Given the description of an element on the screen output the (x, y) to click on. 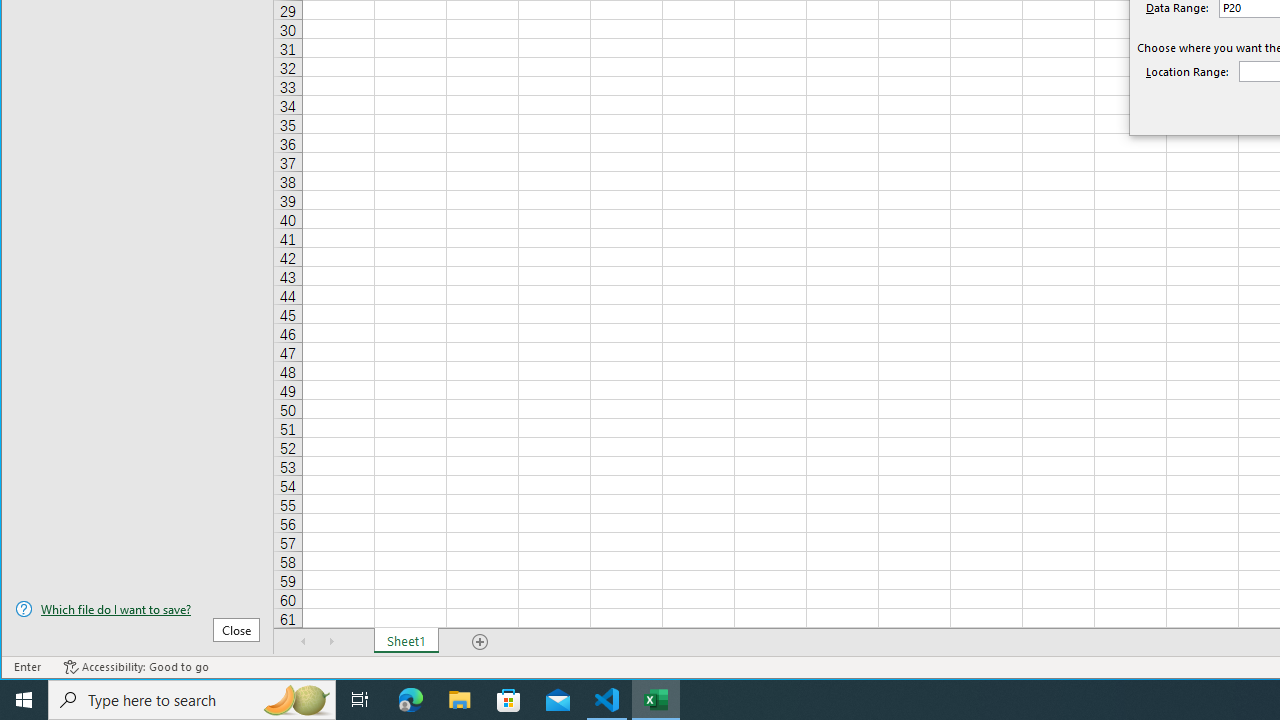
Scroll Right (331, 641)
Sheet1 (406, 641)
Which file do I want to save? (137, 609)
Scroll Left (303, 641)
Accessibility Checker Accessibility: Good to go (136, 667)
Add Sheet (481, 641)
Close (235, 629)
